Given the description of an element on the screen output the (x, y) to click on. 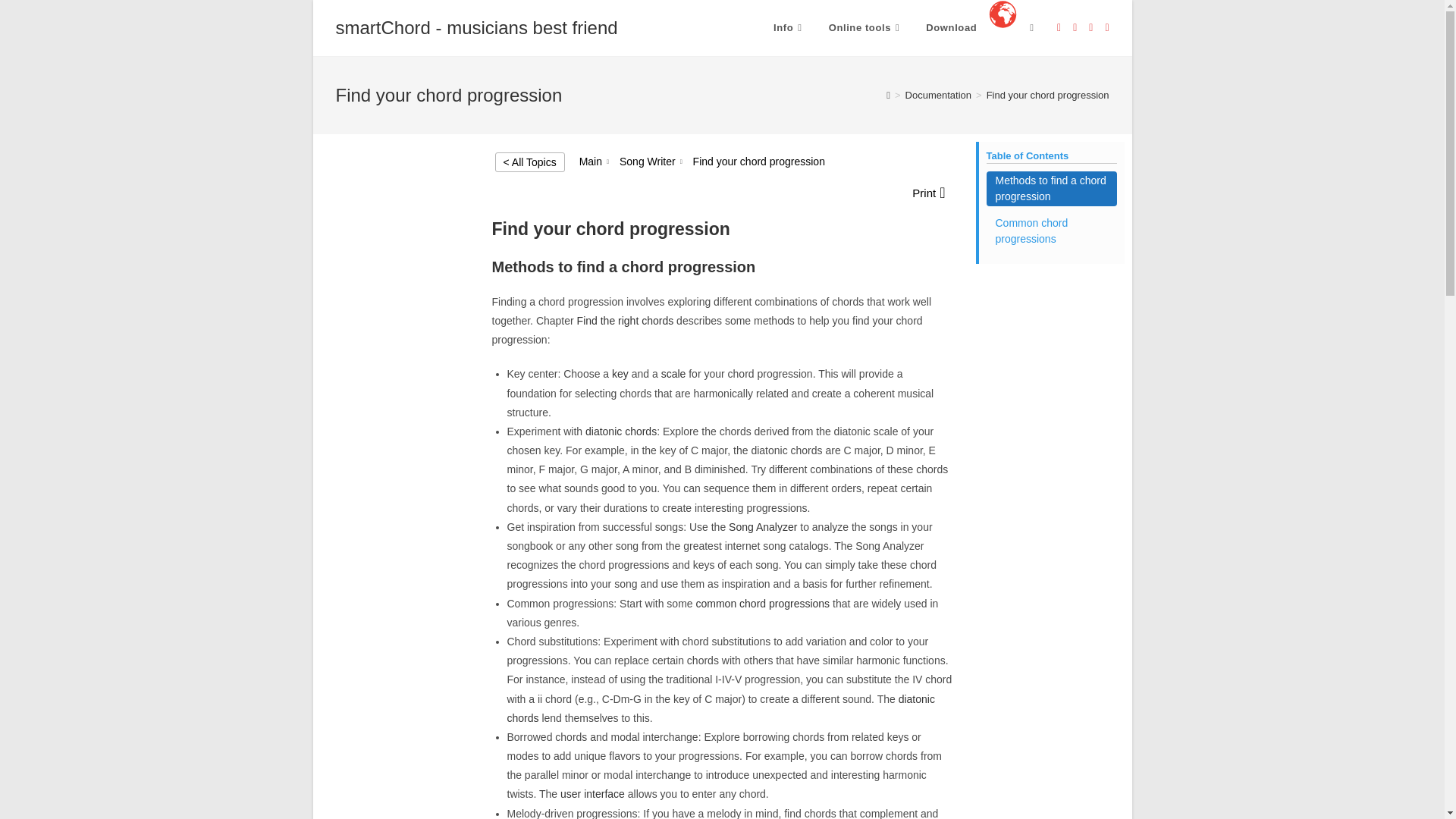
smartChord - musicians best friend (475, 27)
Download (951, 28)
Info (788, 28)
Toggle website search (1031, 28)
Online tools (865, 28)
